Given the description of an element on the screen output the (x, y) to click on. 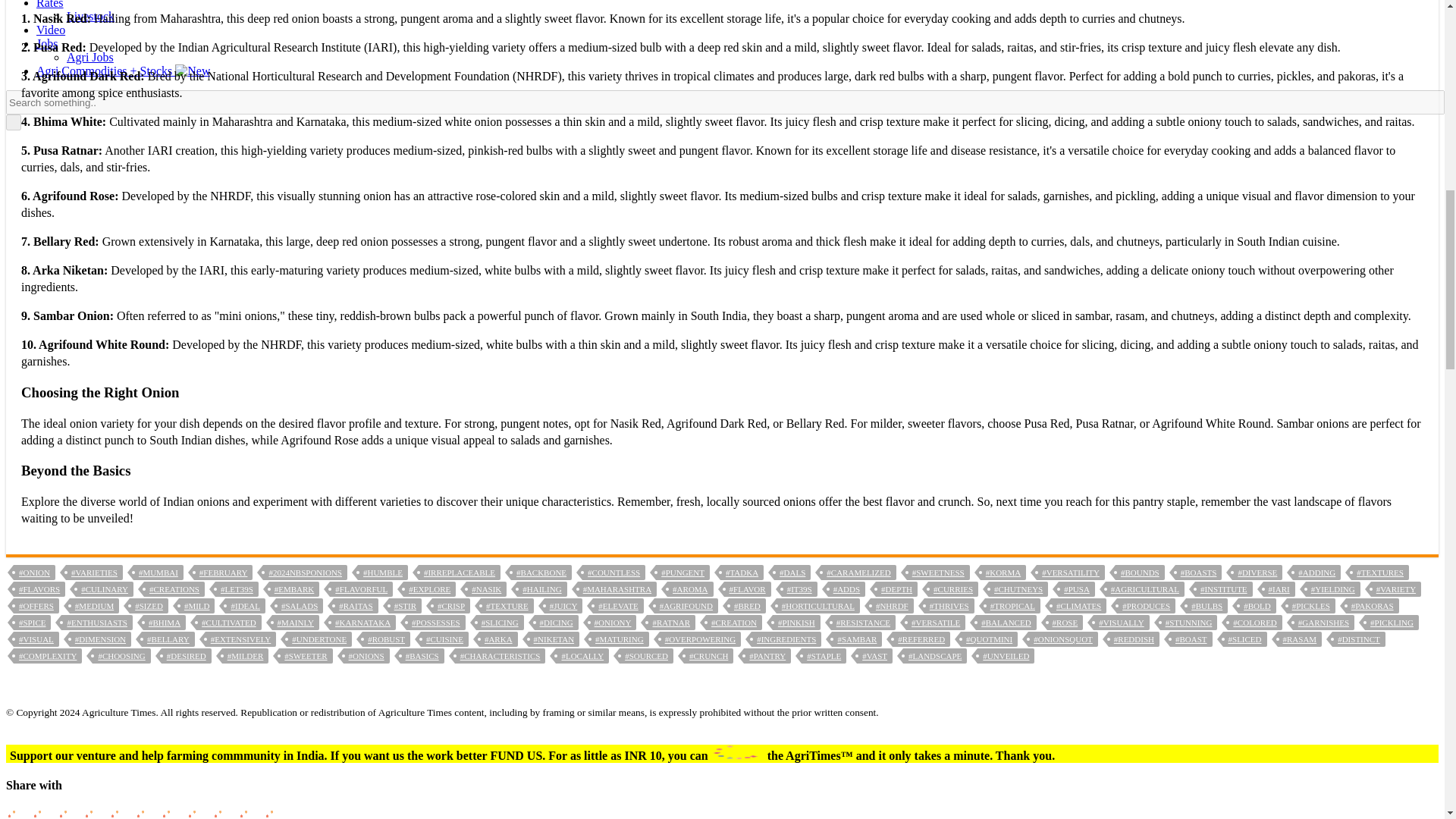
Facebook (17, 813)
Pinterest (274, 813)
Linkedin (94, 813)
Digg (171, 813)
Buffer (197, 813)
Tumblr (120, 813)
StumbleUpon (249, 813)
Twitter (69, 813)
SMS (223, 813)
Reddit (146, 813)
Whatsapp (43, 813)
